Given the description of an element on the screen output the (x, y) to click on. 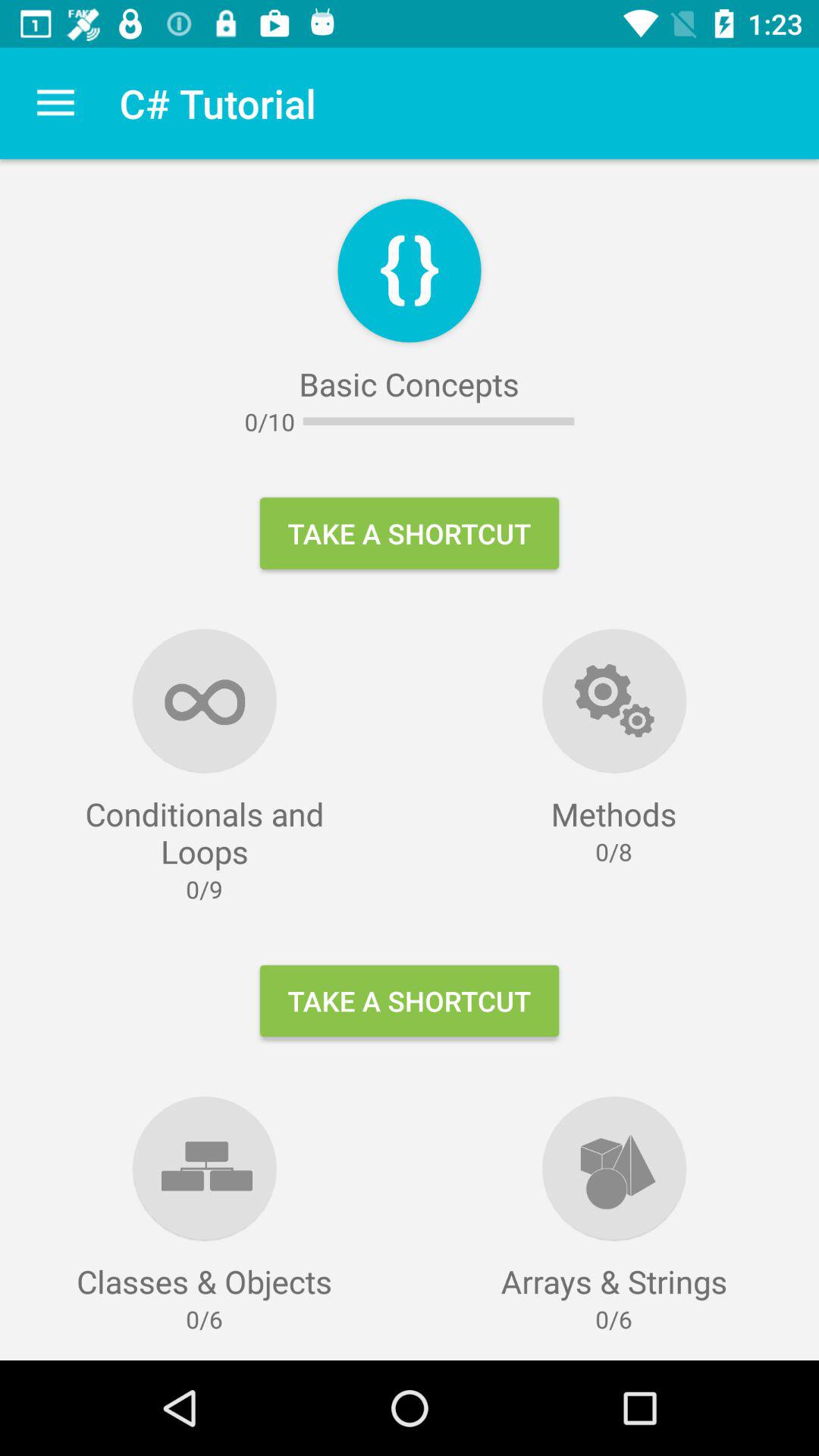
click icon next to c# tutorial icon (55, 103)
